Given the description of an element on the screen output the (x, y) to click on. 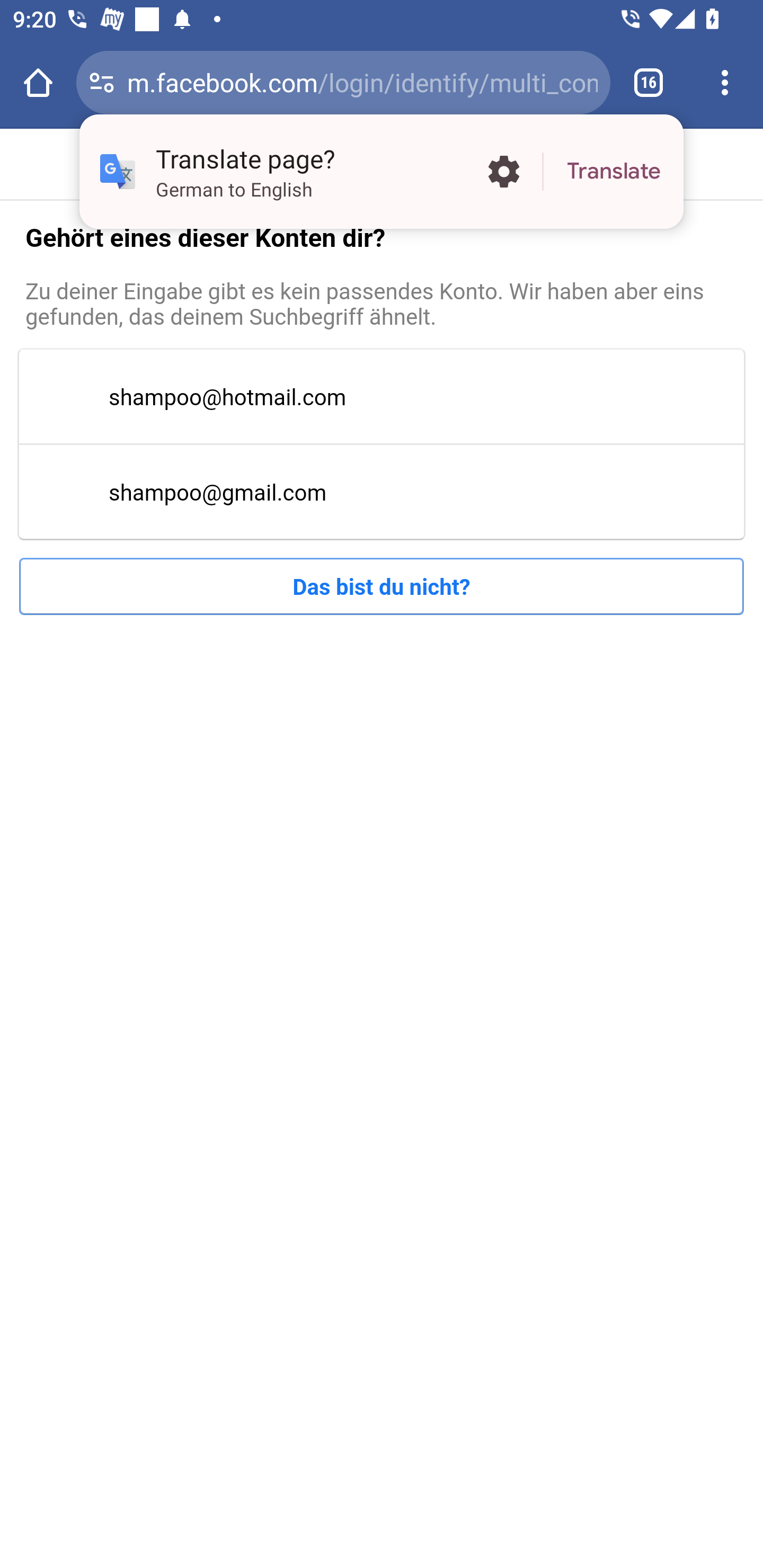
Open the home page (38, 82)
Connection is secure (101, 82)
Switch or close tabs (648, 82)
Customize and control Google Chrome (724, 82)
Translate (613, 171)
More options in the Translate page? (503, 171)
Das bist du nicht? (381, 586)
